Given the description of an element on the screen output the (x, y) to click on. 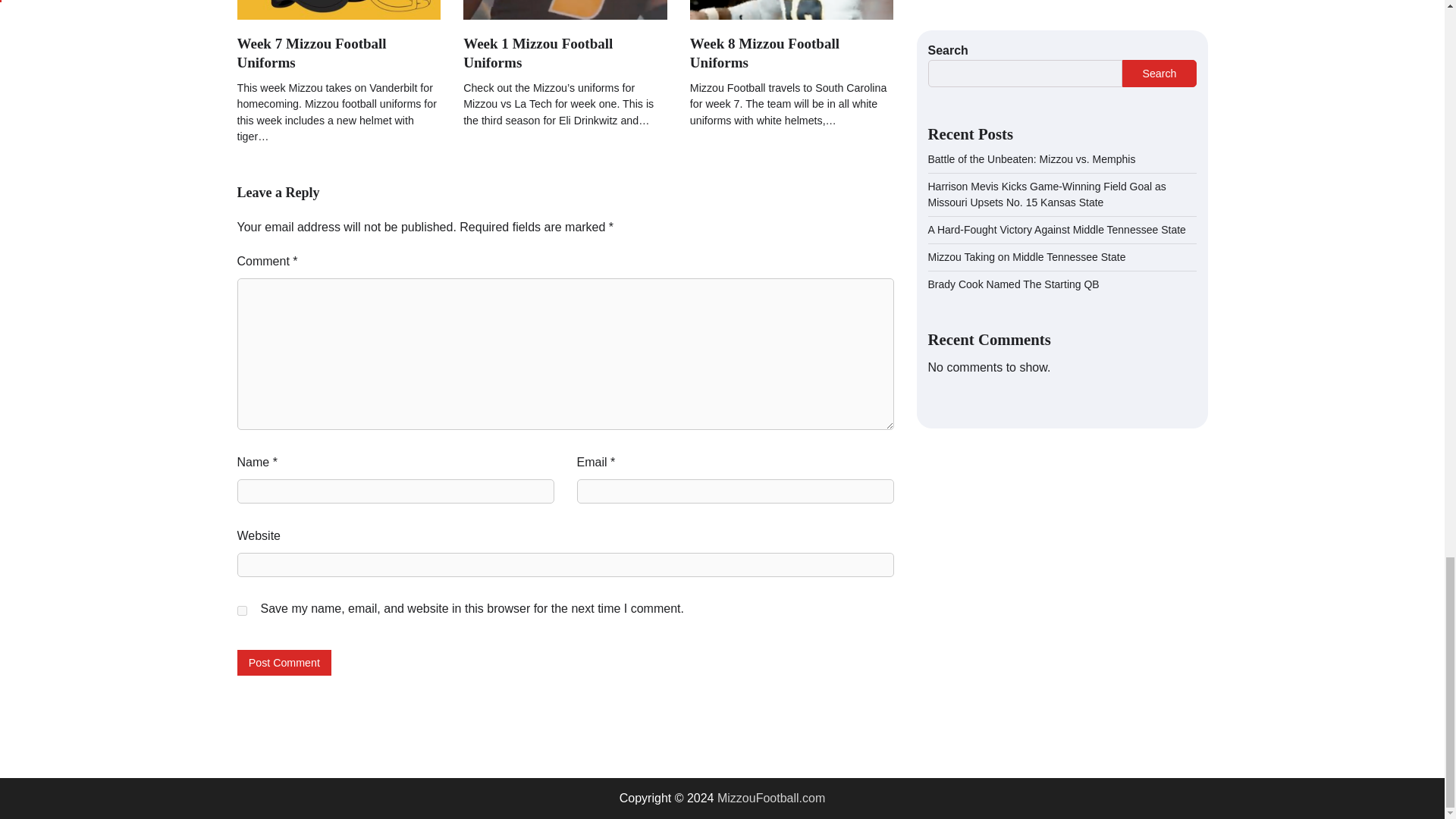
Post Comment (283, 662)
yes (240, 610)
Week 7 Mizzou Football Uniforms (310, 53)
Post Comment (283, 662)
Week 8 Mizzou Football Uniforms (765, 53)
MizzouFootball.com (771, 797)
Week 1 Mizzou Football Uniforms (537, 53)
